Given the description of an element on the screen output the (x, y) to click on. 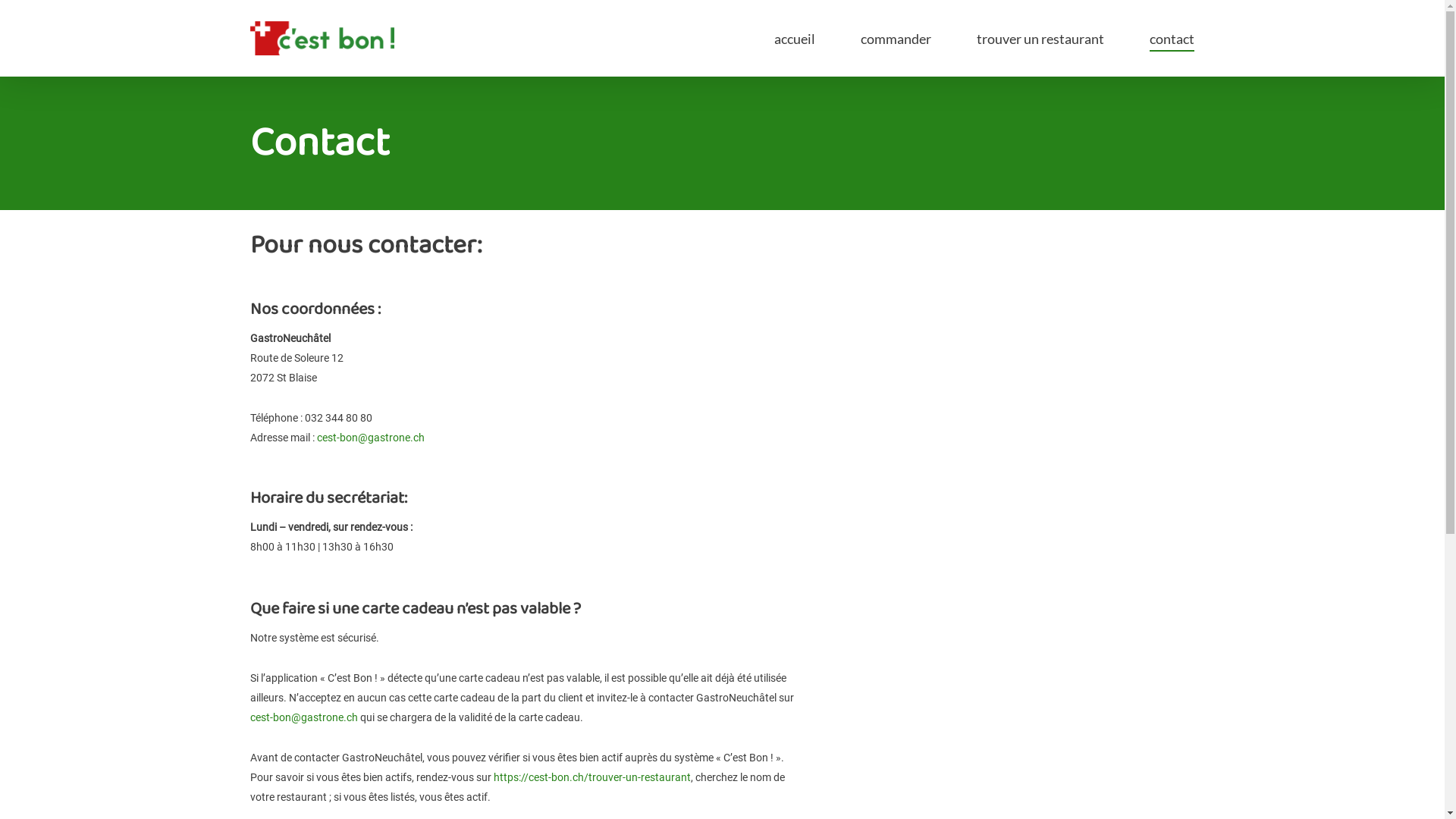
cest-bon@gastrone.ch Element type: text (303, 717)
trouver un restaurant Element type: text (1040, 38)
cest-bon@gastrone.ch Element type: text (370, 437)
commander Element type: text (895, 38)
https://cest-bon.ch/trouver-un-restaurant Element type: text (591, 777)
contact Element type: text (1171, 38)
accueil Element type: text (794, 38)
